Given the description of an element on the screen output the (x, y) to click on. 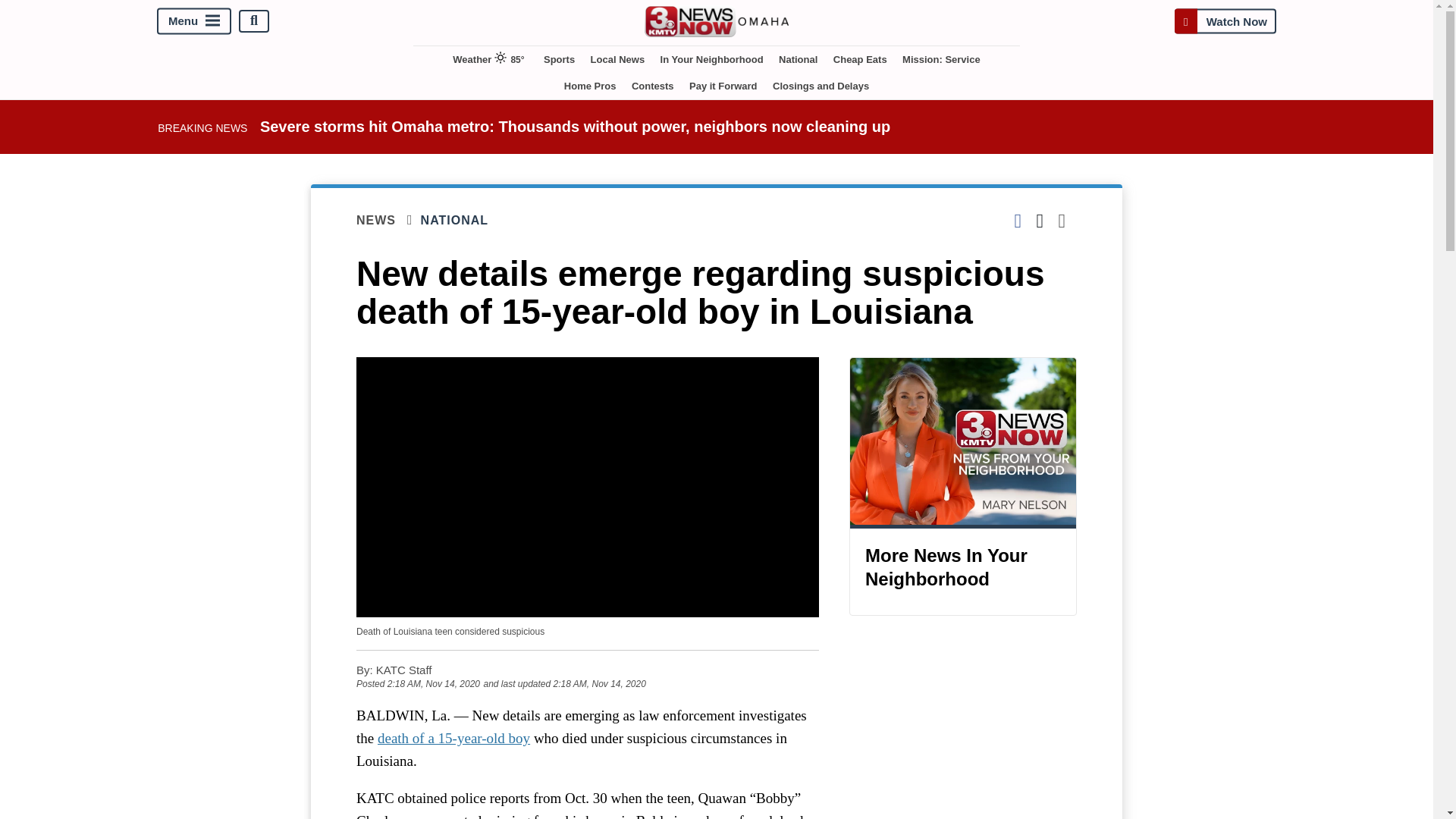
Menu (194, 20)
Watch Now (1224, 20)
